Given the description of an element on the screen output the (x, y) to click on. 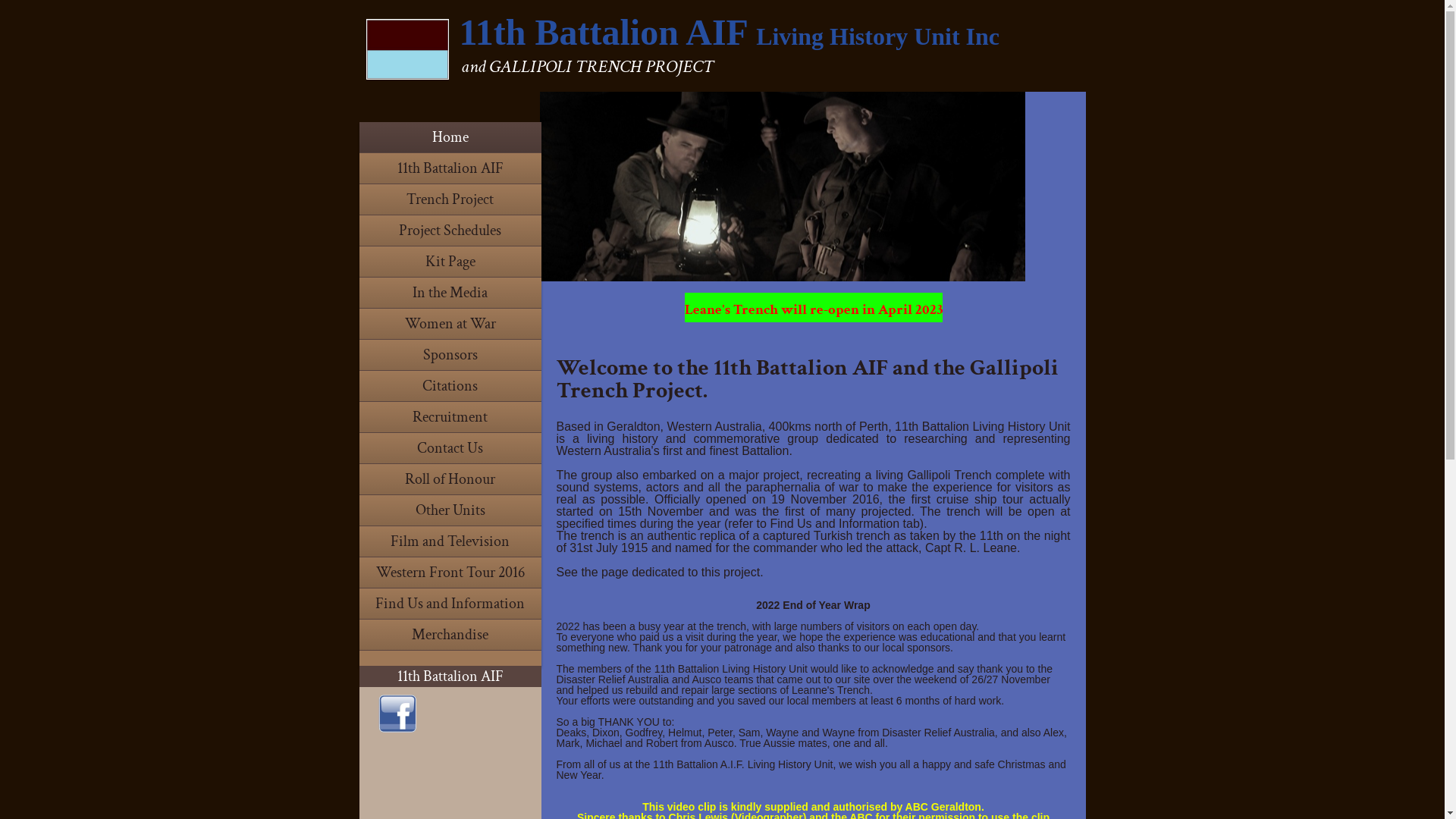
In the Media Element type: text (450, 292)
Trench Project Element type: text (450, 199)
Kit Page Element type: text (450, 261)
Find Us and Information Element type: text (450, 603)
Recruitment Element type: text (450, 416)
Citations Element type: text (450, 385)
Project Schedules Element type: text (450, 230)
Roll of Honour Element type: text (450, 479)
Sponsors Element type: text (450, 354)
Film and Television Element type: text (450, 541)
Western Front Tour 2016 Element type: text (450, 572)
Contact Us Element type: text (450, 448)
Home Element type: text (450, 137)
11th Battalion AIF Element type: text (450, 168)
Other Units Element type: text (450, 510)
Women at War Element type: text (450, 323)
Merchandise Element type: text (450, 634)
